Given the description of an element on the screen output the (x, y) to click on. 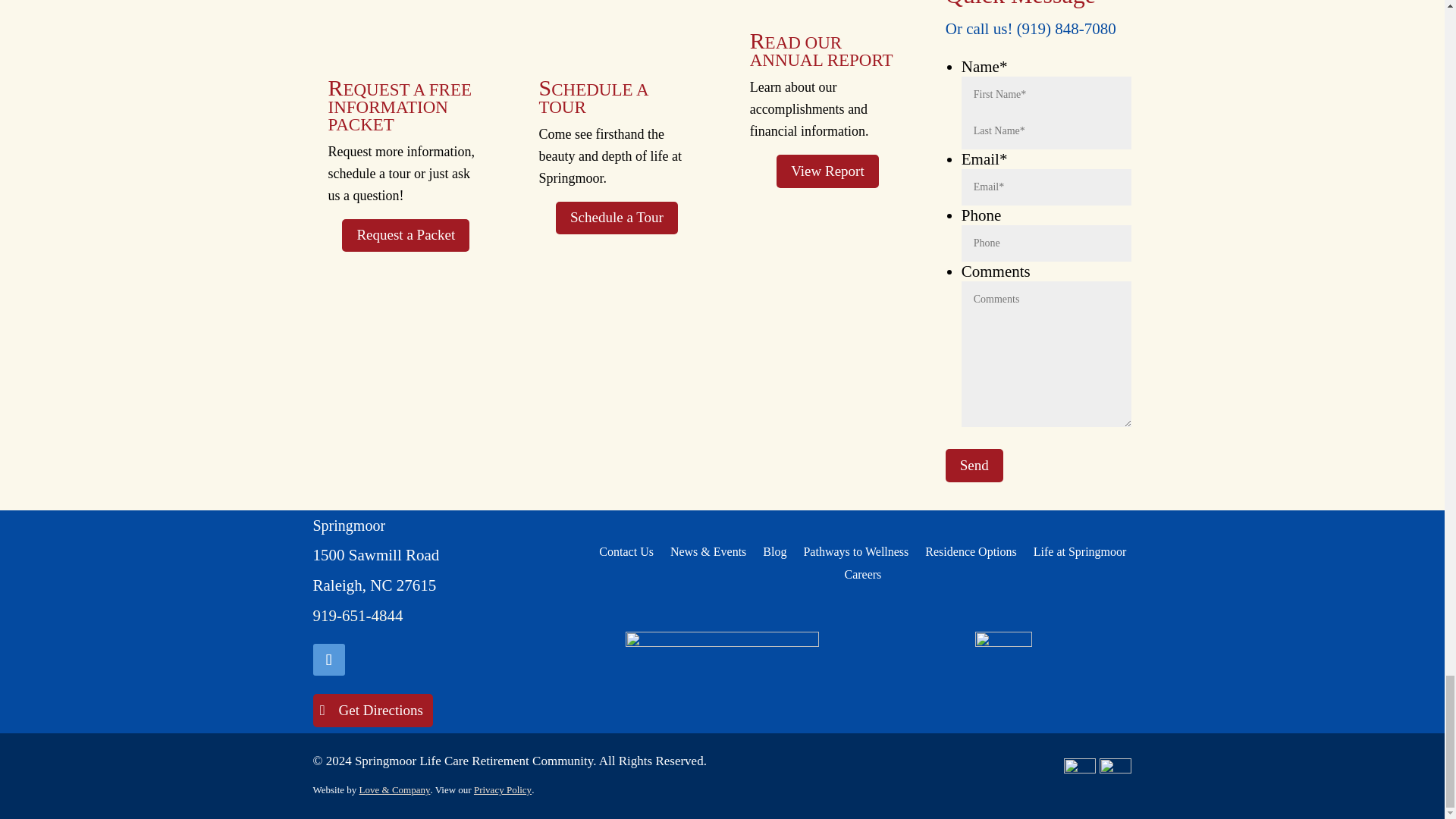
smoor-footer-la-nc (722, 660)
smoor-footer-lamember (1003, 660)
Follow on Facebook (328, 659)
